Given the description of an element on the screen output the (x, y) to click on. 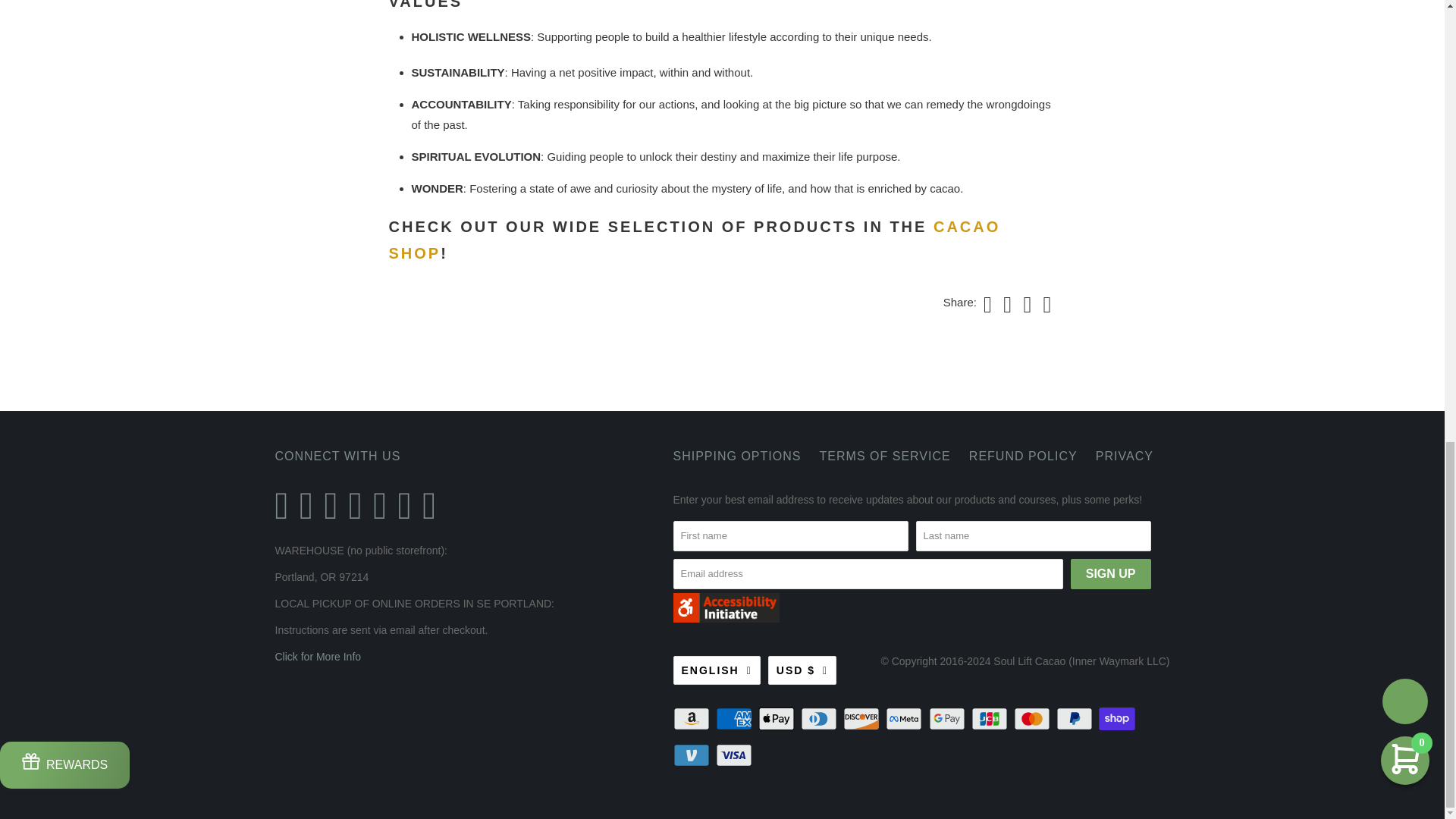
Meta Pay (904, 718)
shop (694, 239)
Venmo (692, 754)
Apple Pay (777, 718)
PayPal (1076, 718)
Amazon (692, 718)
Visa (735, 754)
Sign Up (1110, 573)
JCB (990, 718)
Diners Club (820, 718)
